Given the description of an element on the screen output the (x, y) to click on. 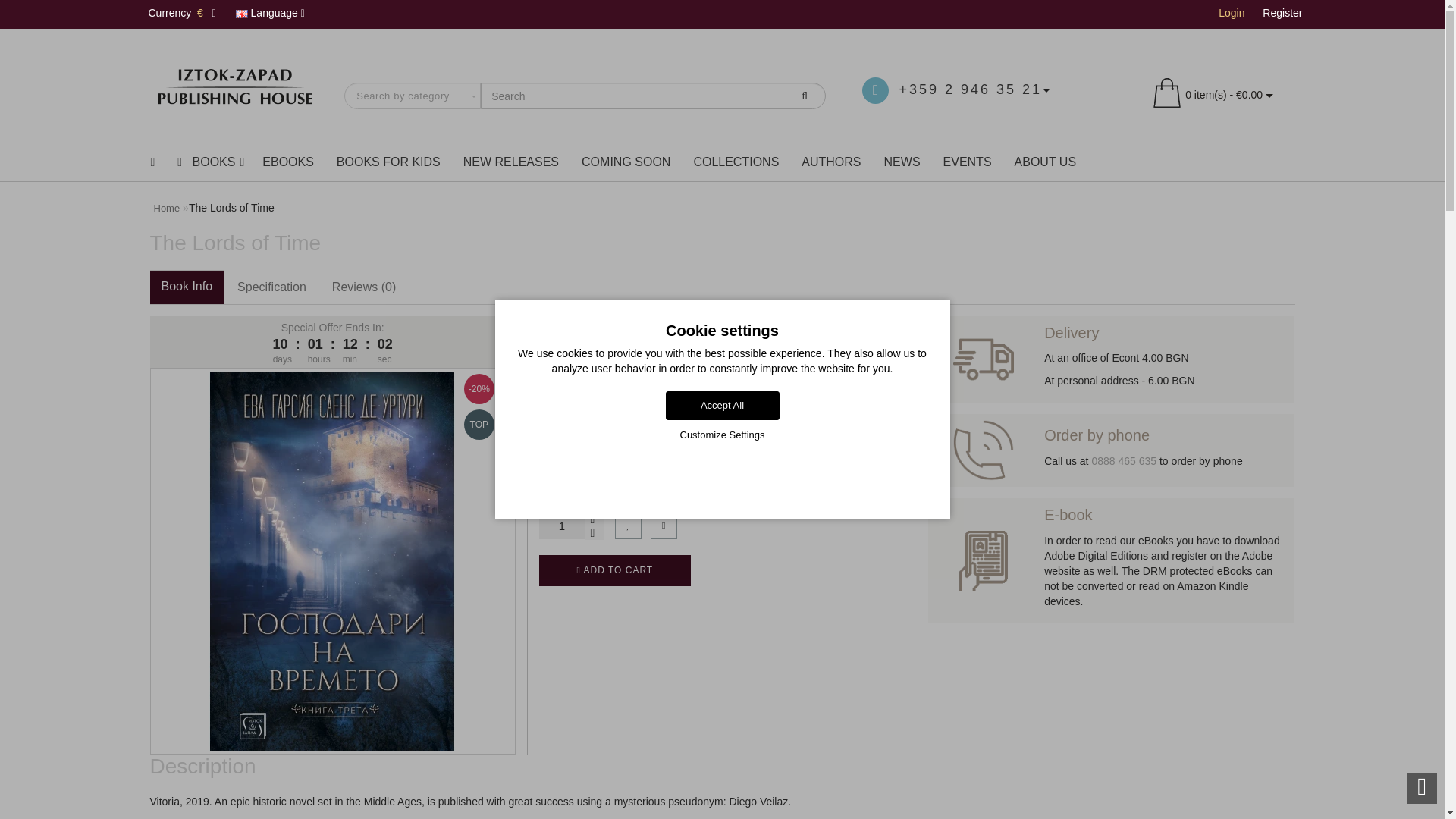
Compare this Product (663, 525)
Add to Wish List (628, 525)
Language (269, 13)
   BOOKS (207, 161)
1 (561, 525)
Login (1231, 12)
English (241, 13)
Qty (561, 525)
Register (1281, 12)
